Given the description of an element on the screen output the (x, y) to click on. 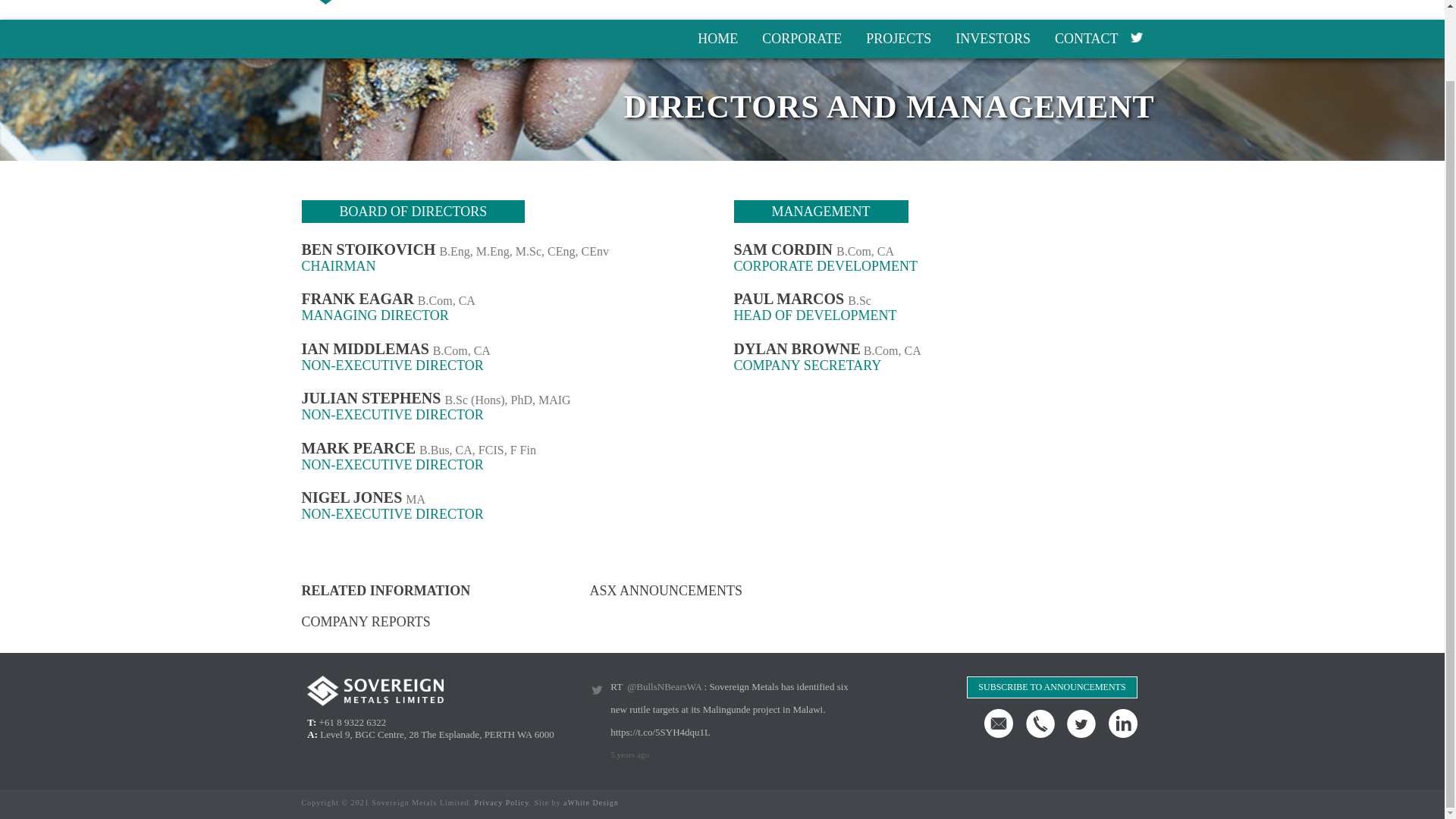
PROJECTS (898, 38)
TWITTER (1135, 37)
CORPORATE (801, 38)
PROJECTS (898, 38)
TWITTER (1135, 37)
CONTACT (1086, 38)
HOME (717, 38)
INVESTORS (992, 38)
CORPORATE (801, 38)
Sovereign Metals Limited (442, 2)
HOME (717, 38)
INVESTORS (992, 38)
CONTACT (1086, 38)
